Given the description of an element on the screen output the (x, y) to click on. 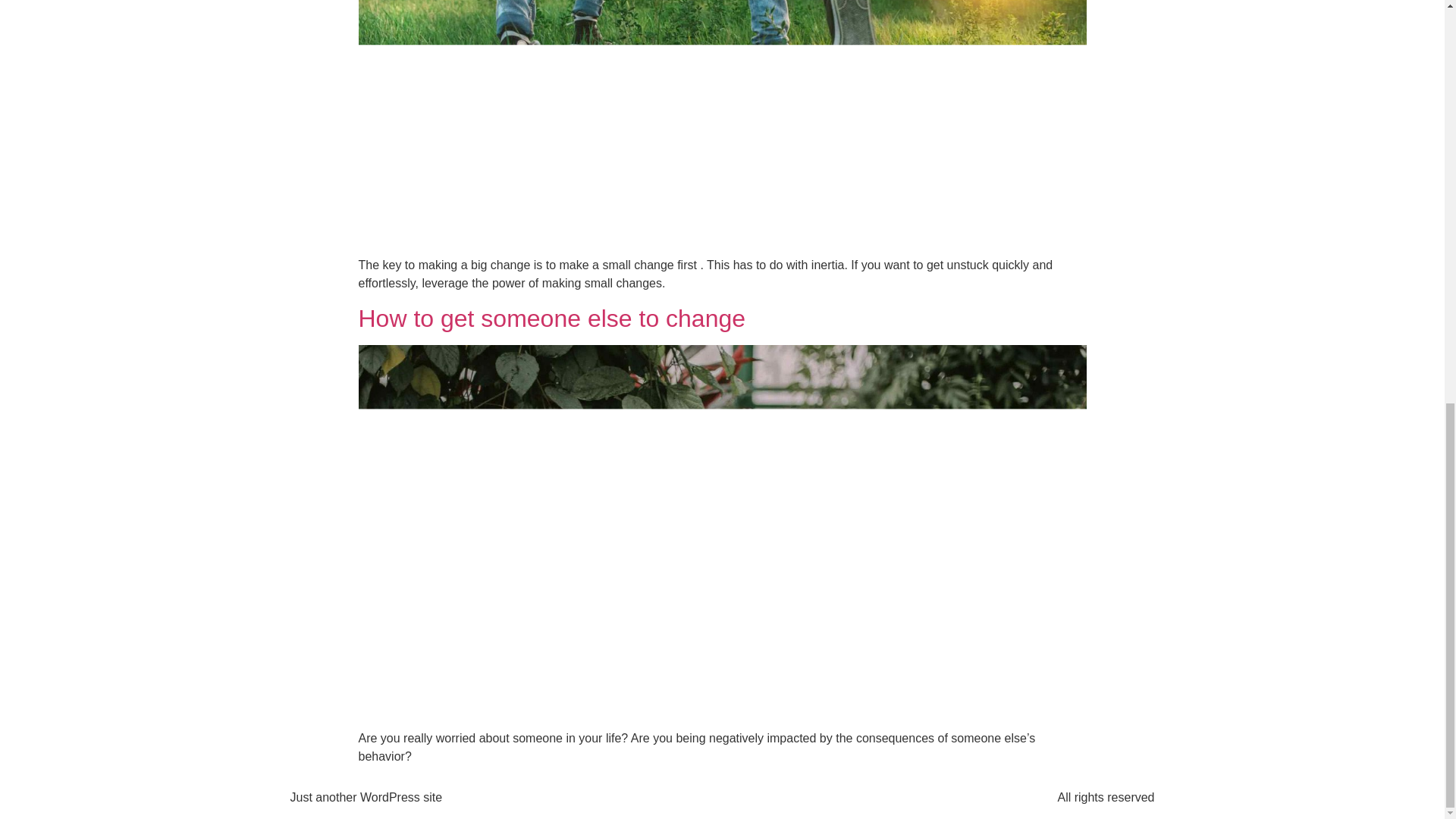
How to get someone else to change (551, 318)
